Given the description of an element on the screen output the (x, y) to click on. 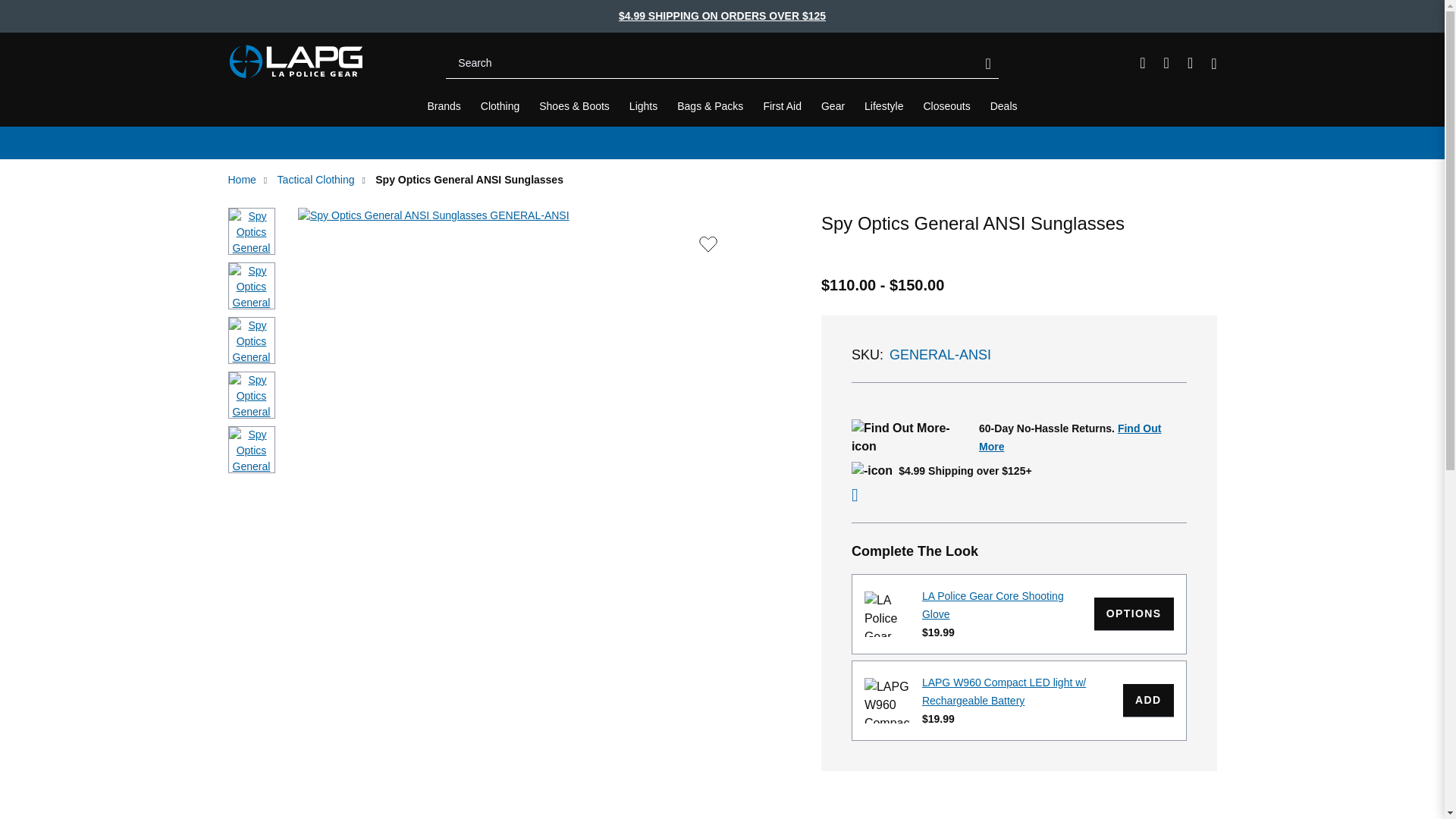
Rewards (1166, 62)
Options (1133, 613)
Account (1190, 62)
Contact Us (1142, 62)
Cart with 0 items (1213, 64)
Add (1147, 700)
Brands (444, 106)
